Given the description of an element on the screen output the (x, y) to click on. 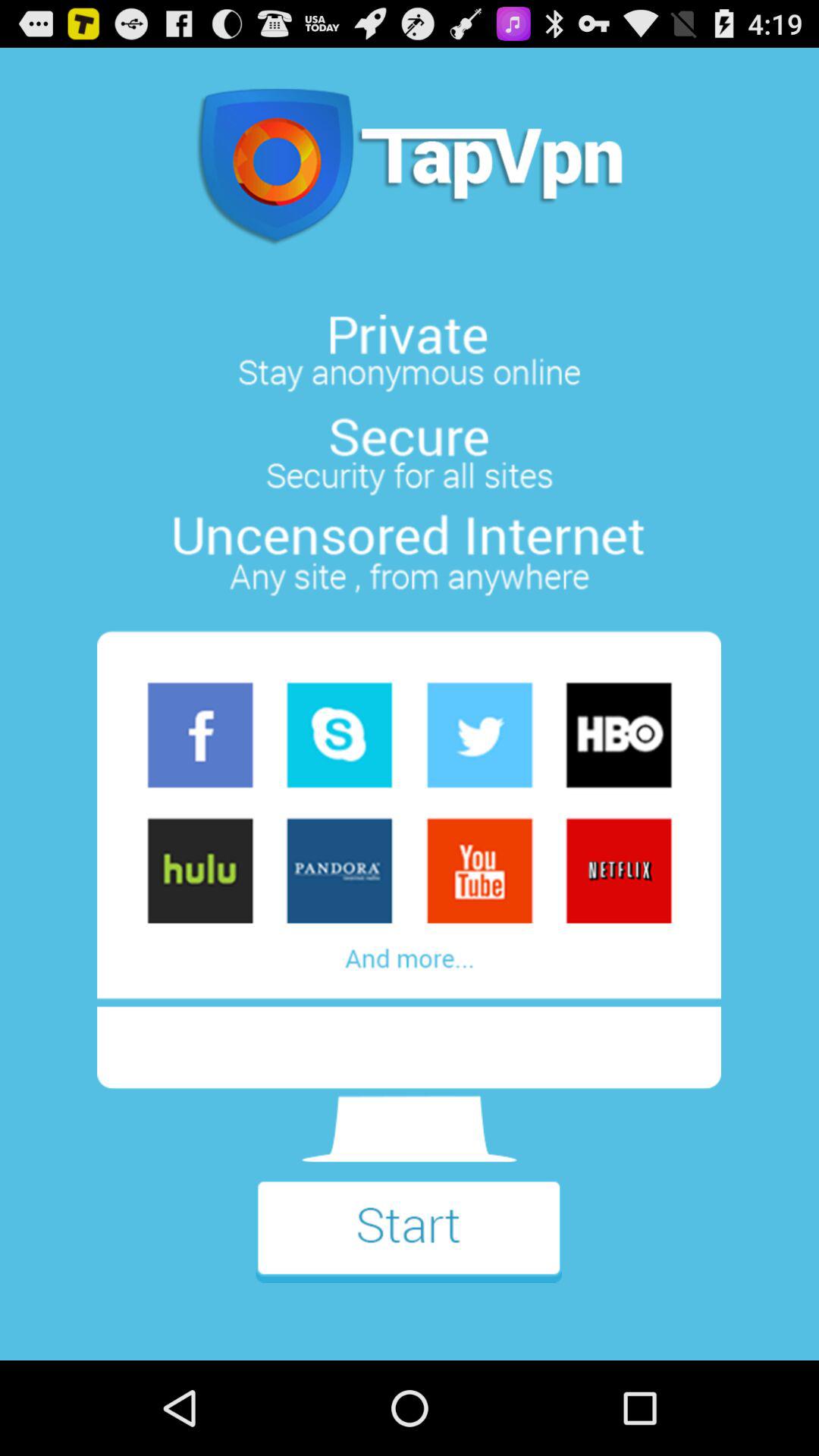
start button (408, 1241)
